Given the description of an element on the screen output the (x, y) to click on. 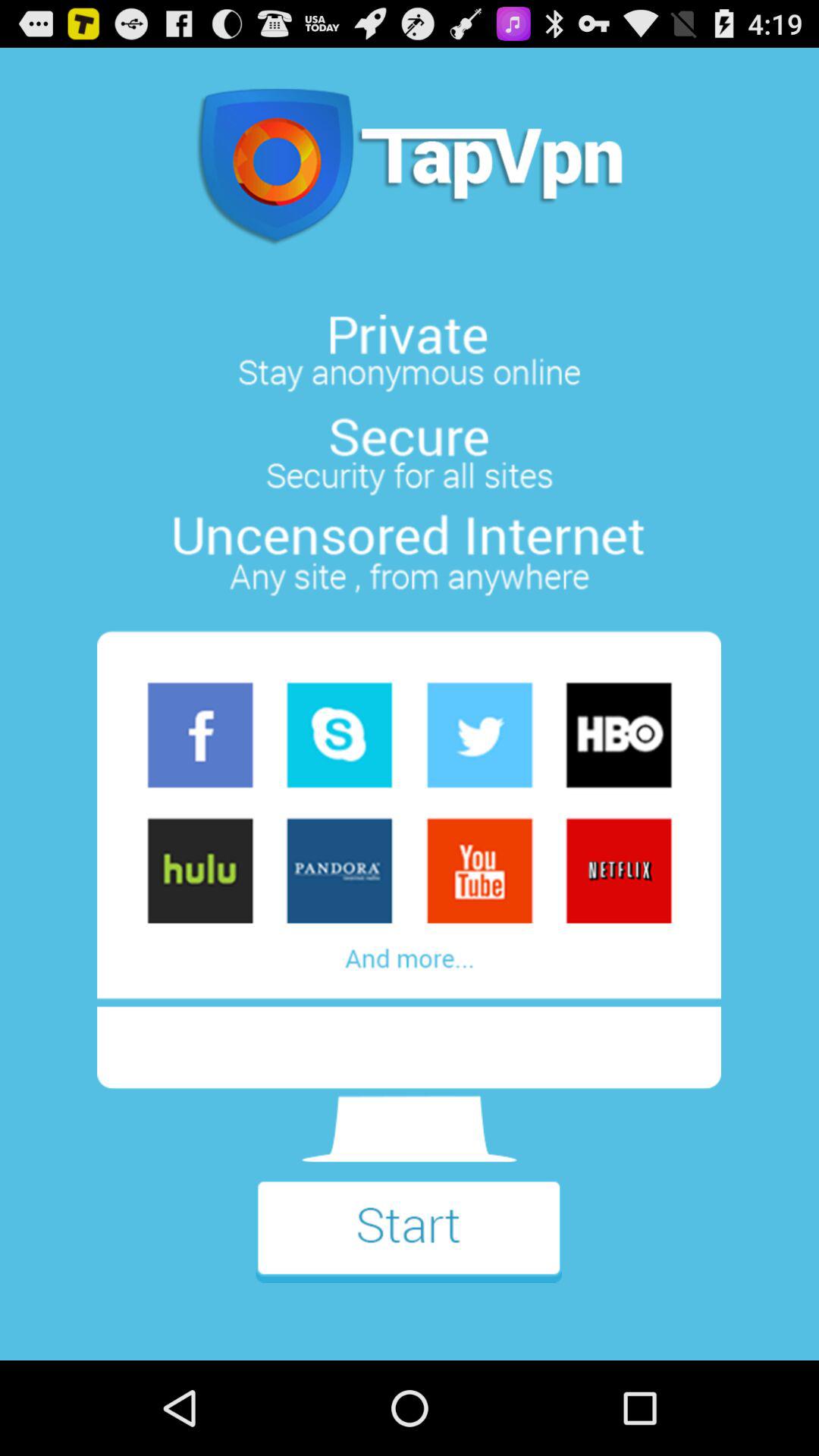
start button (408, 1241)
